Given the description of an element on the screen output the (x, y) to click on. 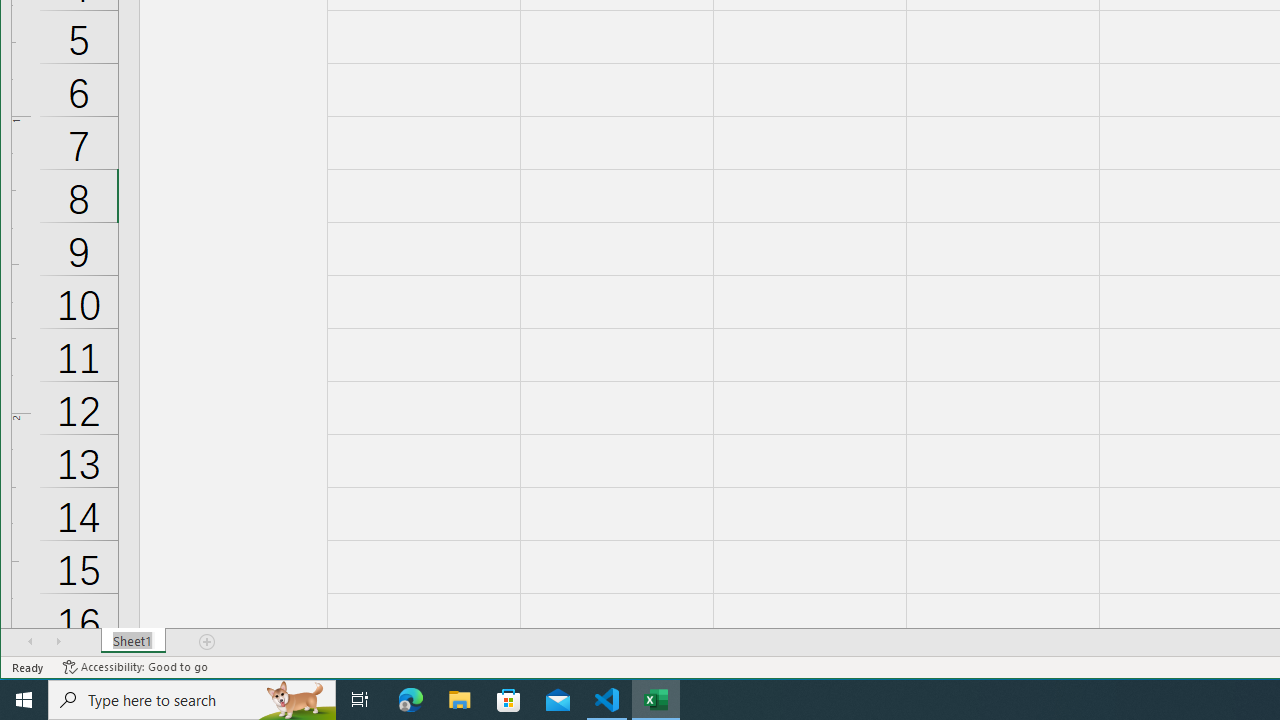
Add Sheet (207, 641)
Accessibility Checker Accessibility: Good to go (135, 667)
Start (24, 699)
Visual Studio Code - 1 running window (607, 699)
Sheet1 (133, 641)
Microsoft Edge (411, 699)
Scroll Left (30, 641)
Microsoft Store (509, 699)
Scroll Right (58, 641)
Search highlights icon opens search home window (295, 699)
Task View (359, 699)
File Explorer (460, 699)
Sheet Tab (133, 641)
Excel - 1 running window (656, 699)
